Given the description of an element on the screen output the (x, y) to click on. 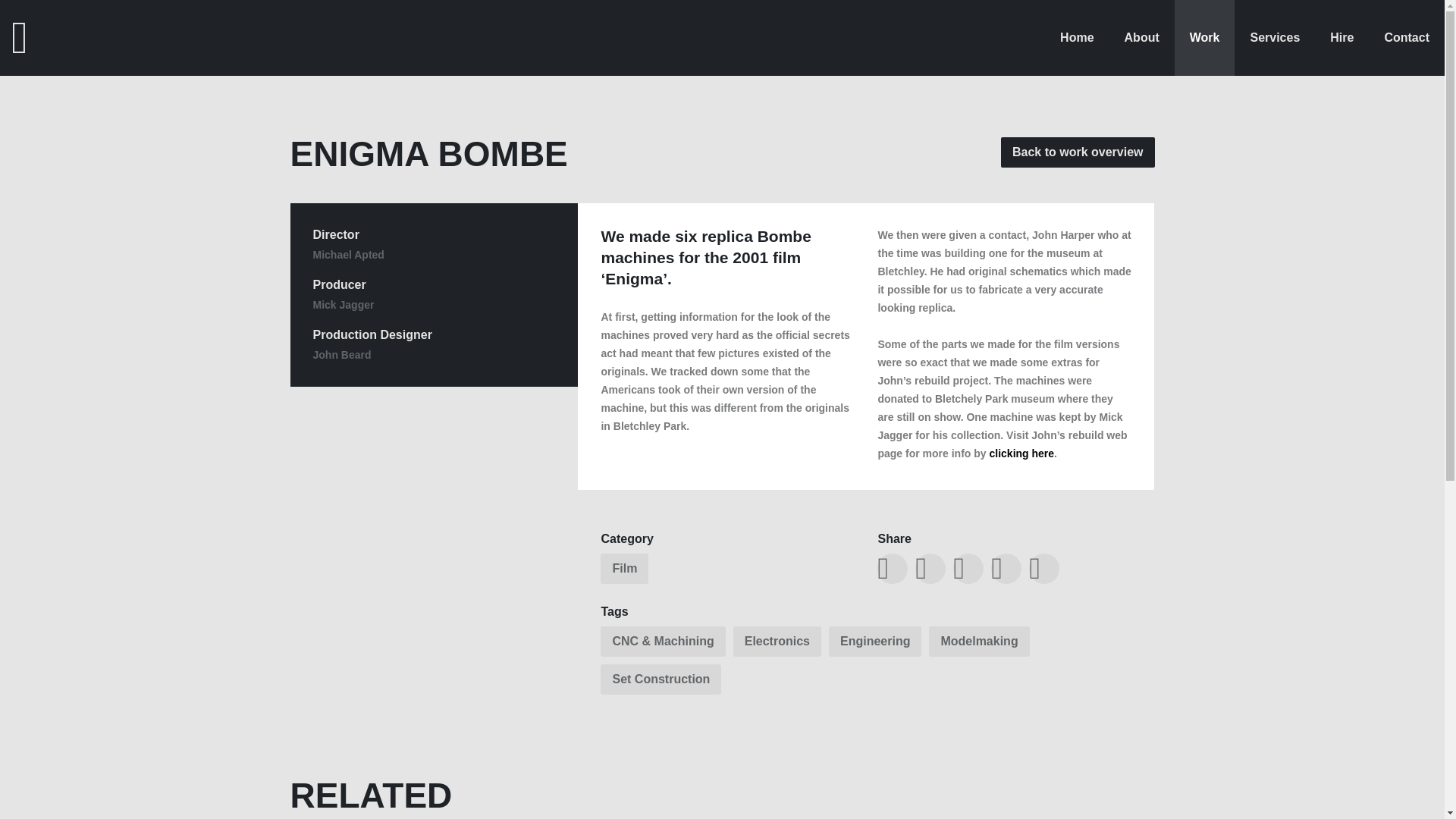
Services (1274, 38)
Electronics (777, 641)
Modelmaking (978, 641)
clicking here (1021, 453)
Back to work overview (1077, 152)
Engineering (874, 641)
Set Construction (659, 679)
Film (623, 568)
